Given the description of an element on the screen output the (x, y) to click on. 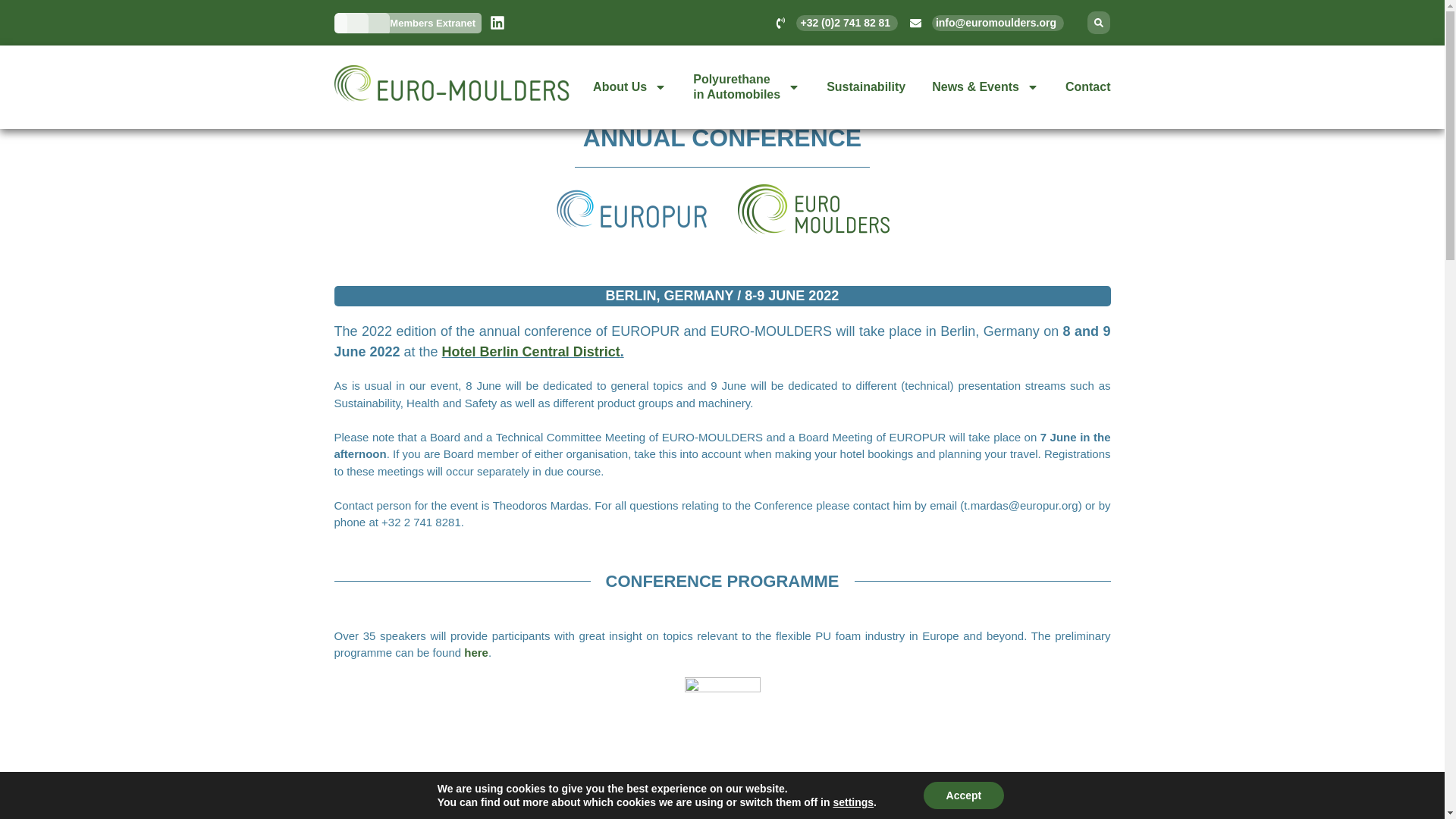
Sustainability (866, 86)
DOW (746, 86)
Members Extranet (722, 791)
